Given the description of an element on the screen output the (x, y) to click on. 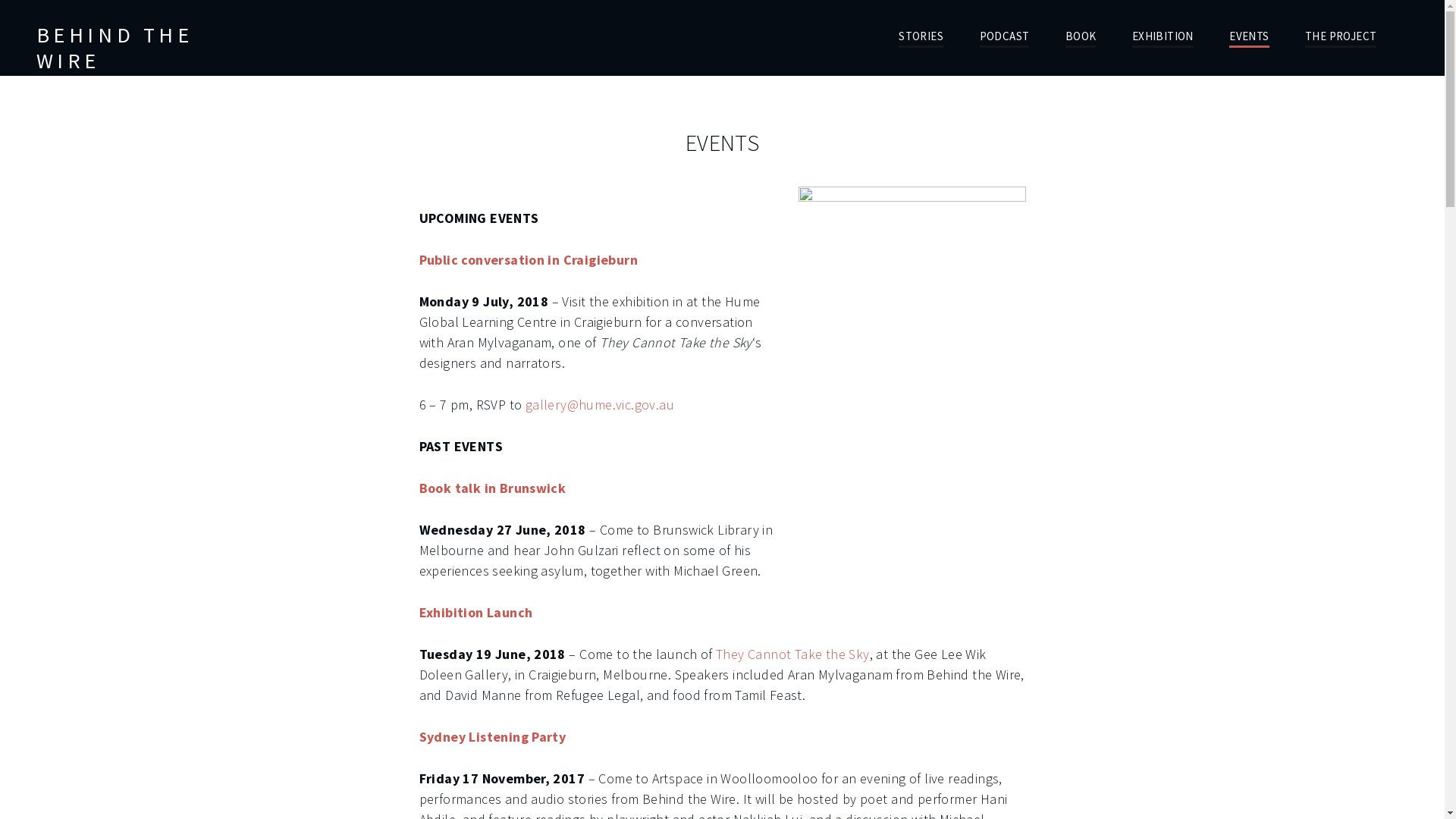
EVENTS Element type: text (1248, 34)
BEHIND THE WIRE Element type: text (114, 47)
Exhibition Launch Element type: text (475, 612)
Skip to primary navigation Element type: text (0, 0)
Book talk in Brunswick Element type: text (491, 487)
BOOK Element type: text (1080, 34)
Public conversation in Craigieburn Element type: text (527, 259)
gallery@hume.vic.gov.au Element type: text (599, 404)
STORIES Element type: text (920, 34)
Sydney Listening Party Element type: text (491, 736)
They Cannot Take the Sky Element type: text (792, 653)
THE PROJECT Element type: text (1340, 34)
PODCAST Element type: text (1004, 34)
EXHIBITION Element type: text (1162, 34)
